Given the description of an element on the screen output the (x, y) to click on. 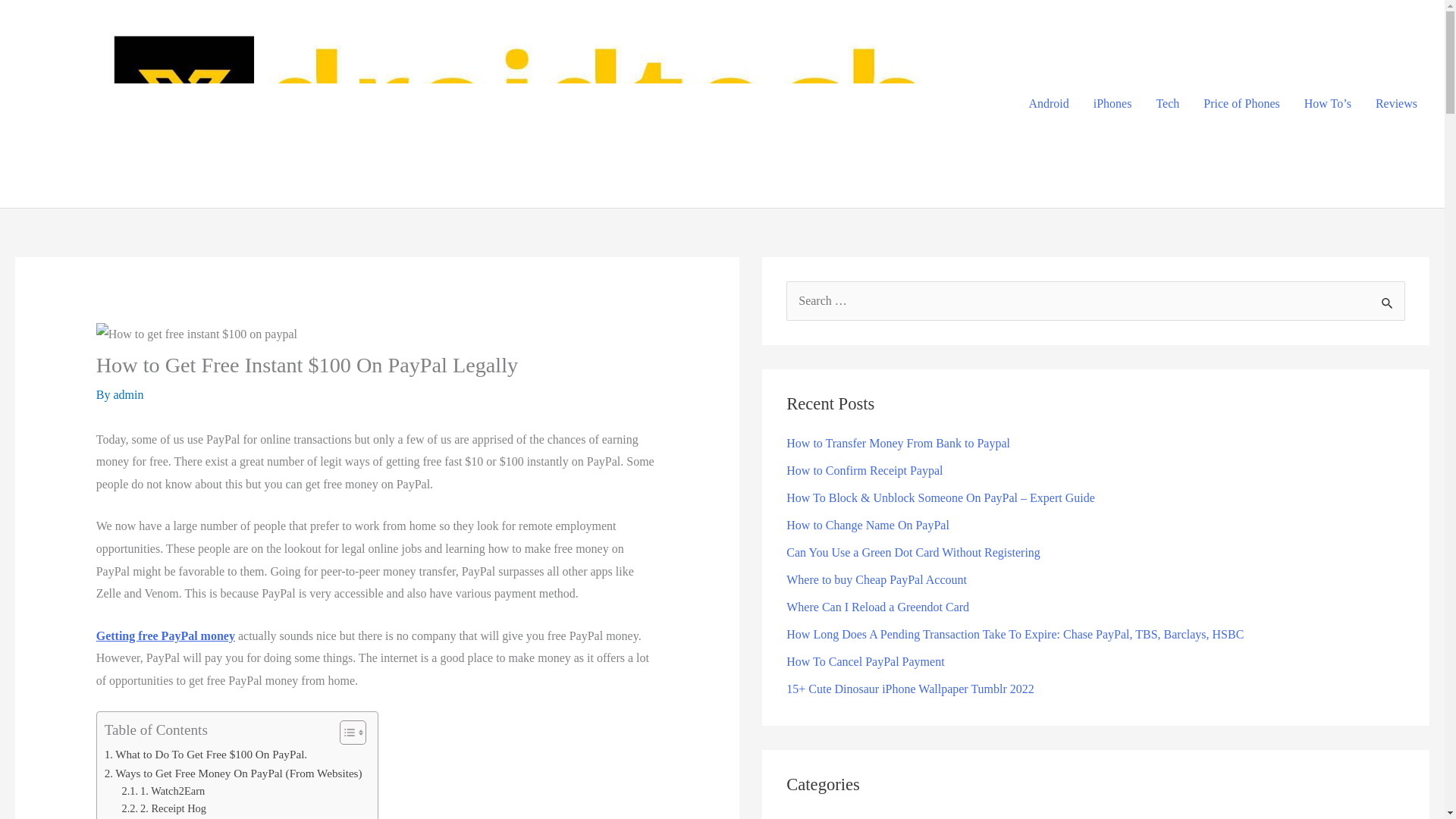
1. Watch2Earn (163, 791)
Getting free PayPal money (165, 635)
Tech (1166, 103)
Reviews (1395, 103)
2. Receipt Hog (164, 808)
2. Receipt Hog (164, 808)
Android (1048, 103)
3. Shop With Ebates (176, 818)
1. Watch2Earn (163, 791)
admin (127, 394)
